Given the description of an element on the screen output the (x, y) to click on. 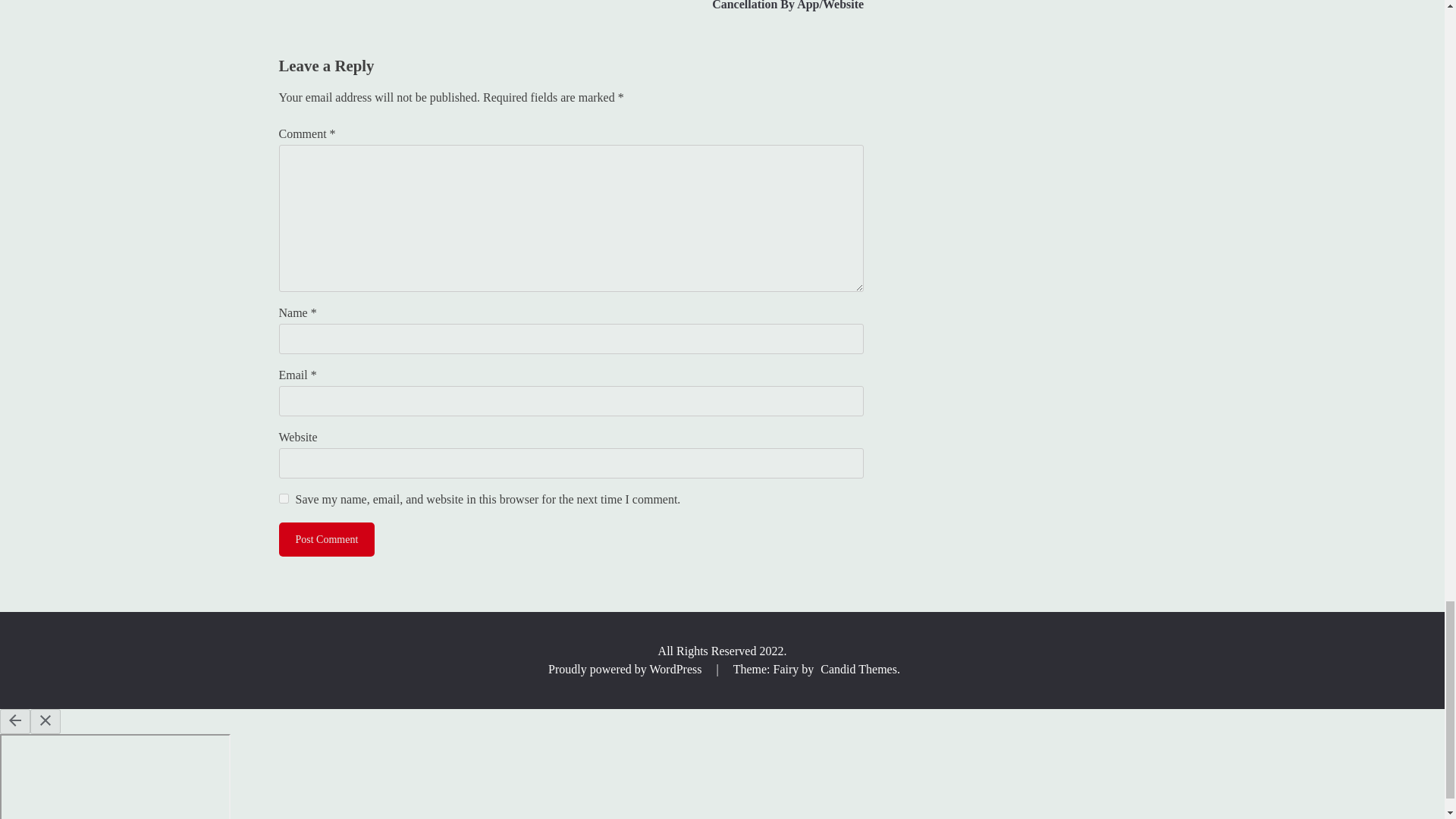
yes (283, 498)
Post Comment (327, 539)
Post Comment (327, 539)
